Given the description of an element on the screen output the (x, y) to click on. 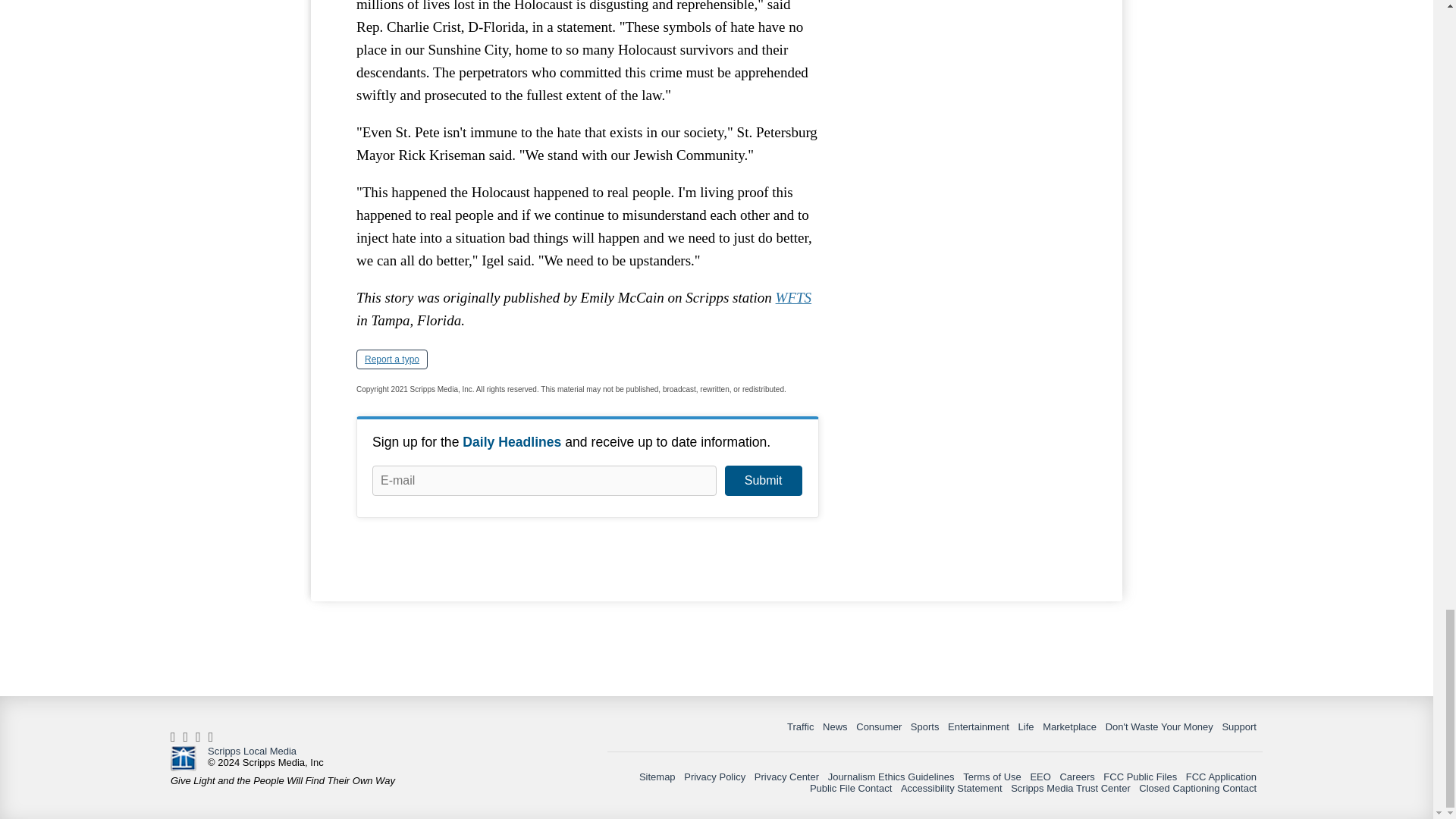
Submit (763, 481)
